Given the description of an element on the screen output the (x, y) to click on. 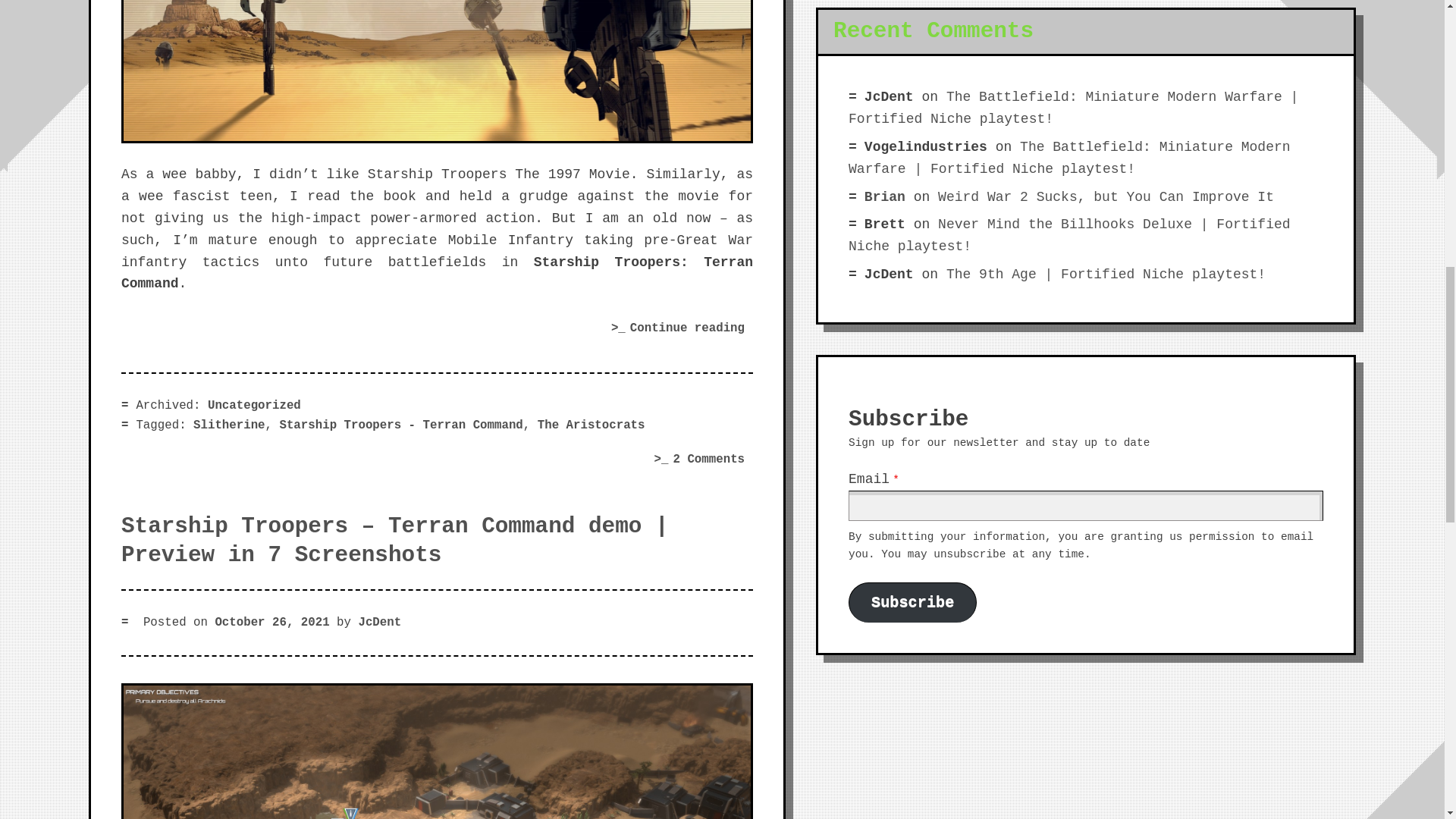
Uncategorized (254, 405)
JcDent (379, 622)
Subscribe (912, 601)
Brian (884, 196)
October 26, 2021 (271, 622)
Slitherine (228, 425)
The Aristocrats (591, 425)
Weird War 2 Sucks, but You Can Improve It (1105, 196)
Starship Troopers - Terran Command (400, 425)
